Given the description of an element on the screen output the (x, y) to click on. 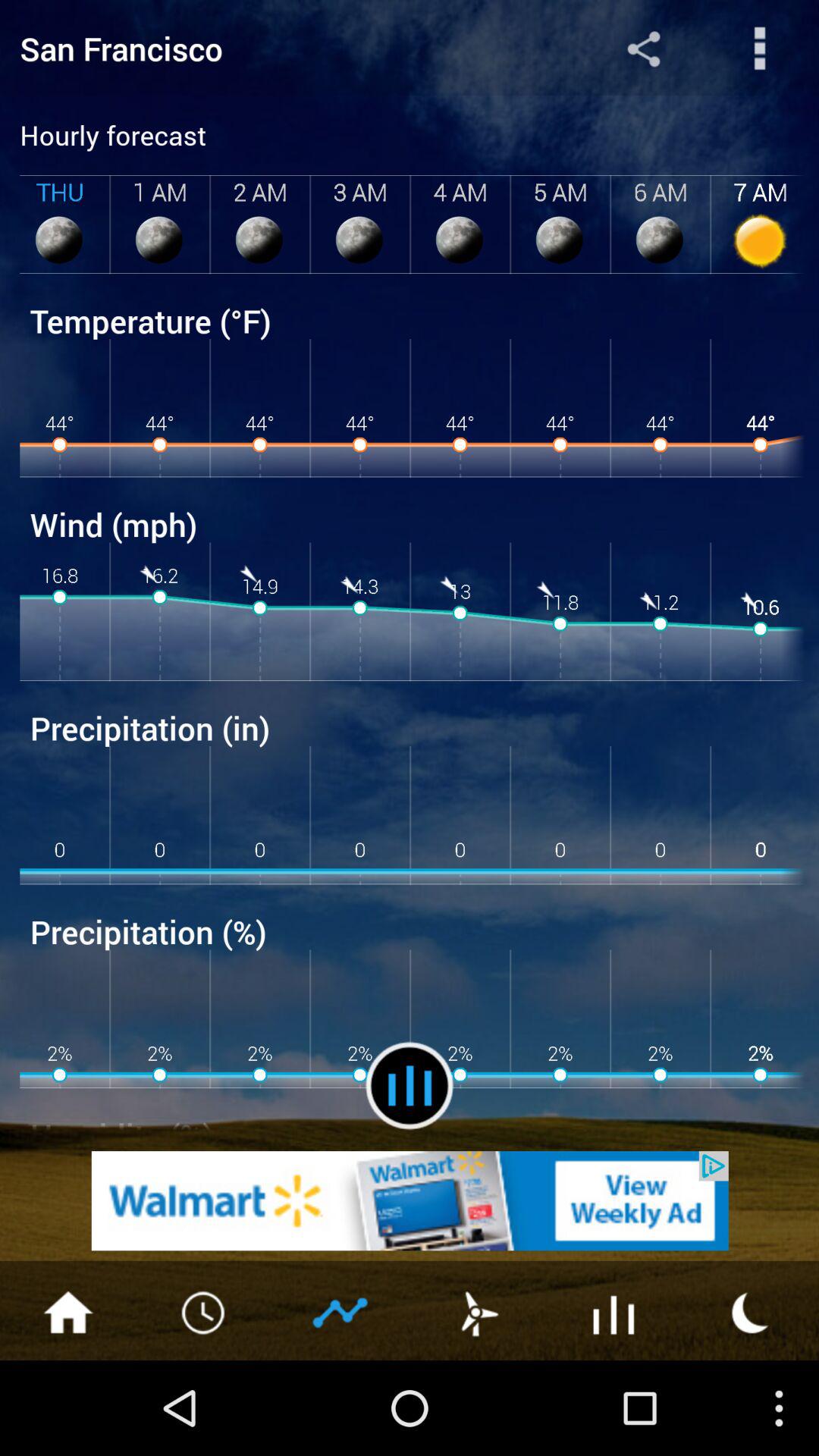
clock (204, 1311)
